Given the description of an element on the screen output the (x, y) to click on. 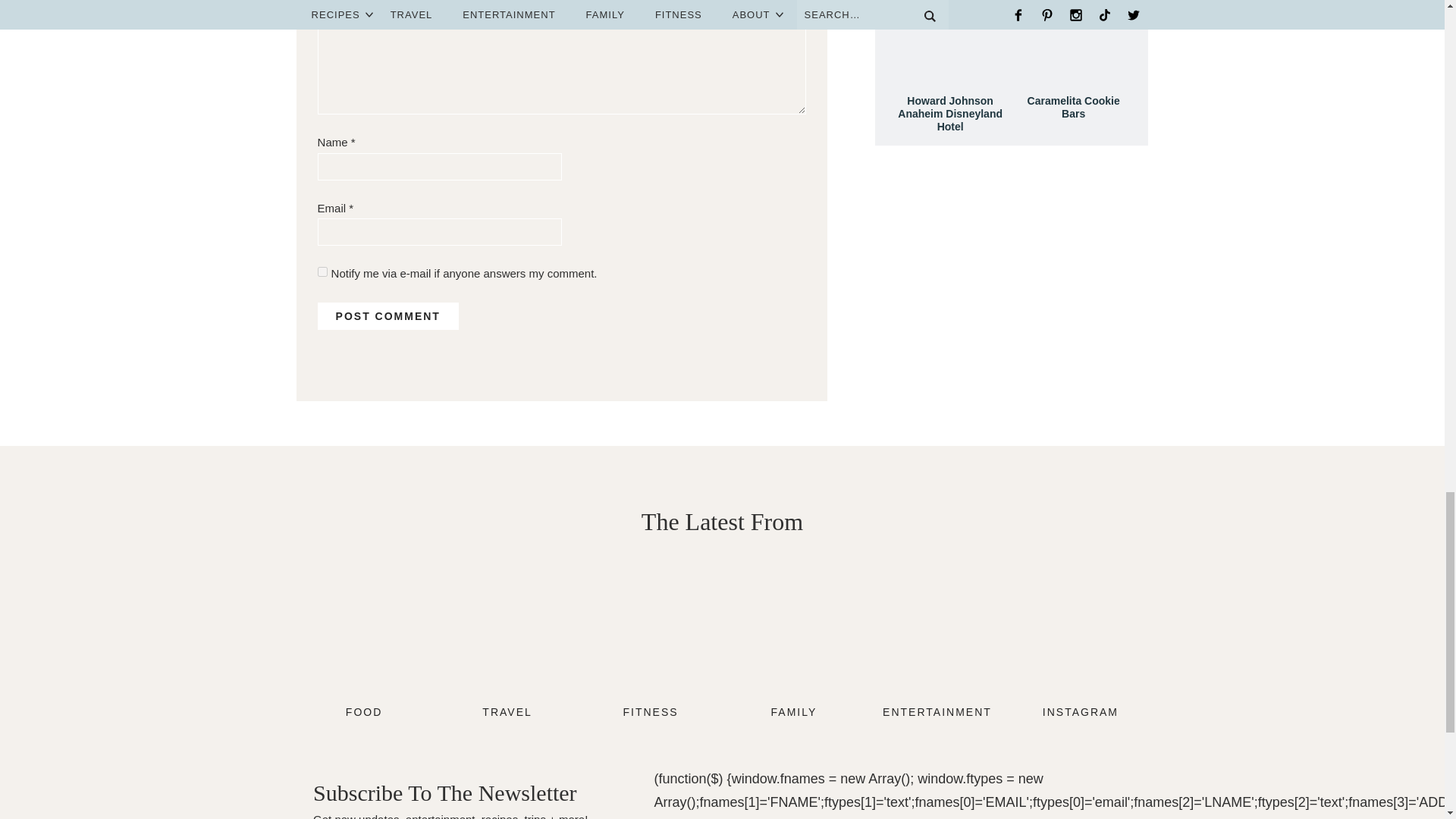
on (322, 271)
Post Comment (387, 316)
